Given the description of an element on the screen output the (x, y) to click on. 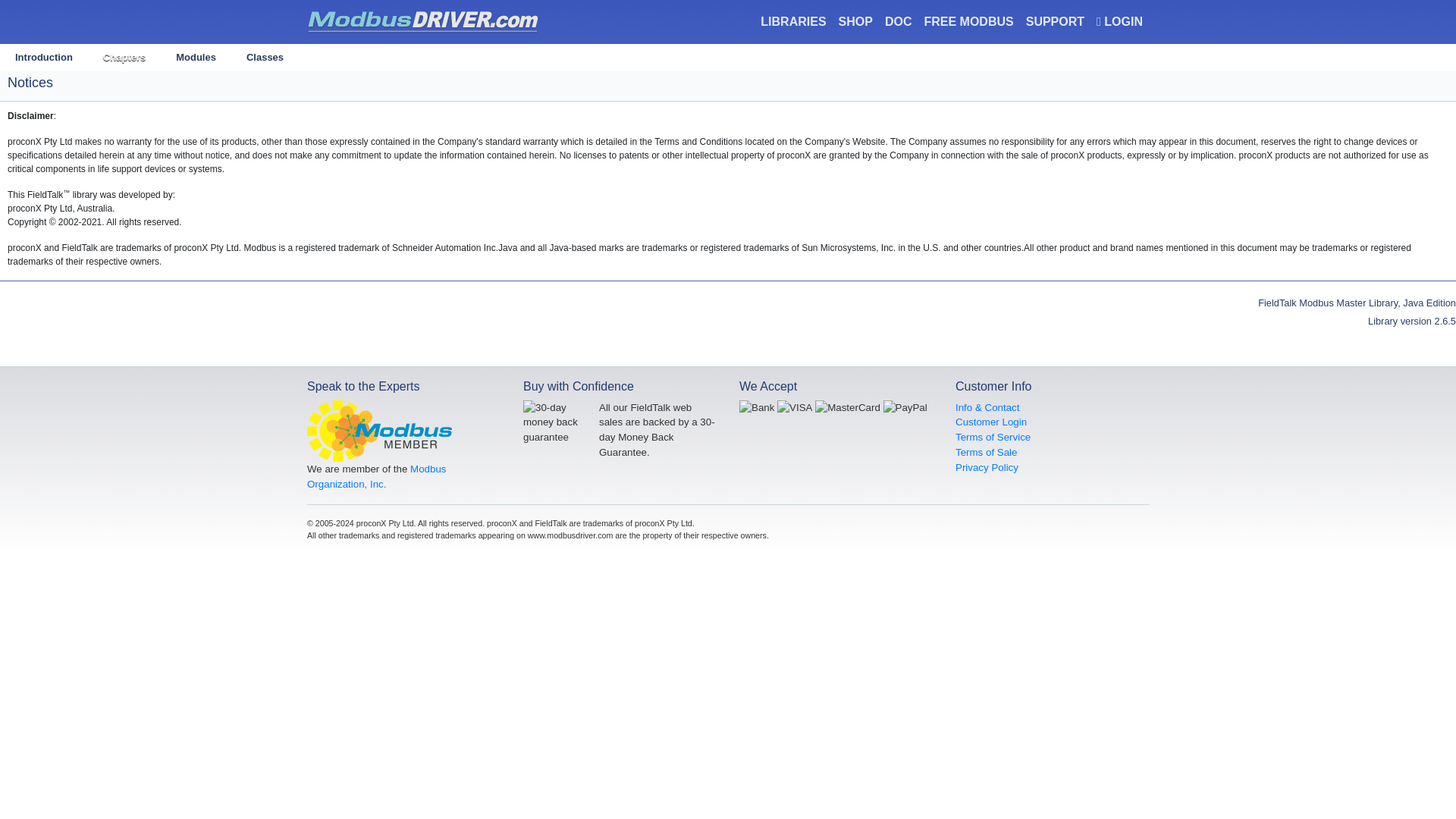
LIBRARIES (792, 21)
FREE MODBUS (968, 21)
Chapters (123, 57)
SHOP (855, 21)
Terms of Service (992, 437)
Terms of Sale (985, 451)
Customer Login (990, 421)
SUPPORT (1055, 21)
Modules (195, 57)
Introduction (43, 57)
